Given the description of an element on the screen output the (x, y) to click on. 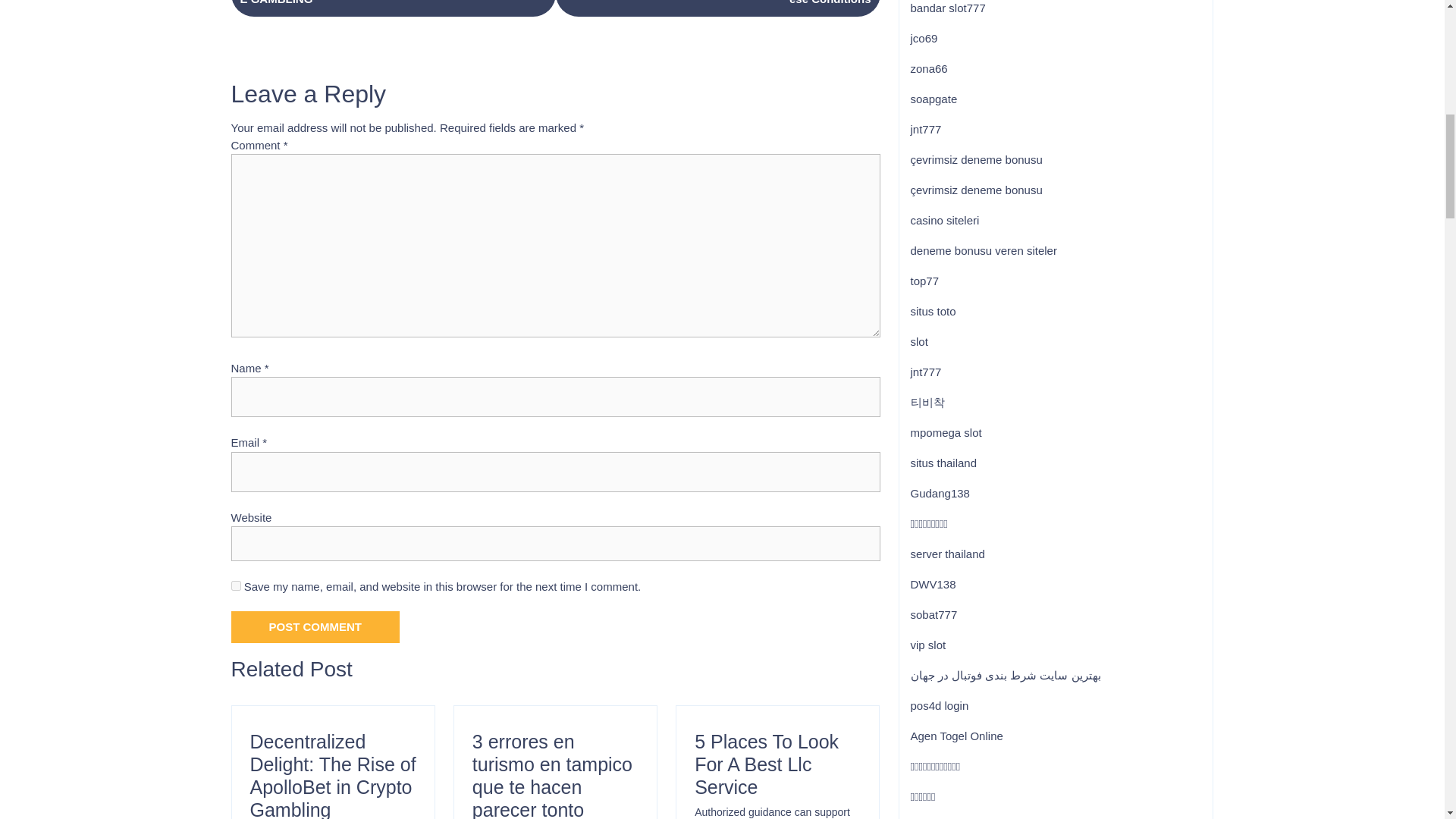
Post Comment (314, 626)
5 Places To Look For A Best Llc Service (766, 764)
3 errores en turismo en tampico que te hacen parecer tonto (392, 8)
Post Comment (551, 775)
yes (314, 626)
